Given the description of an element on the screen output the (x, y) to click on. 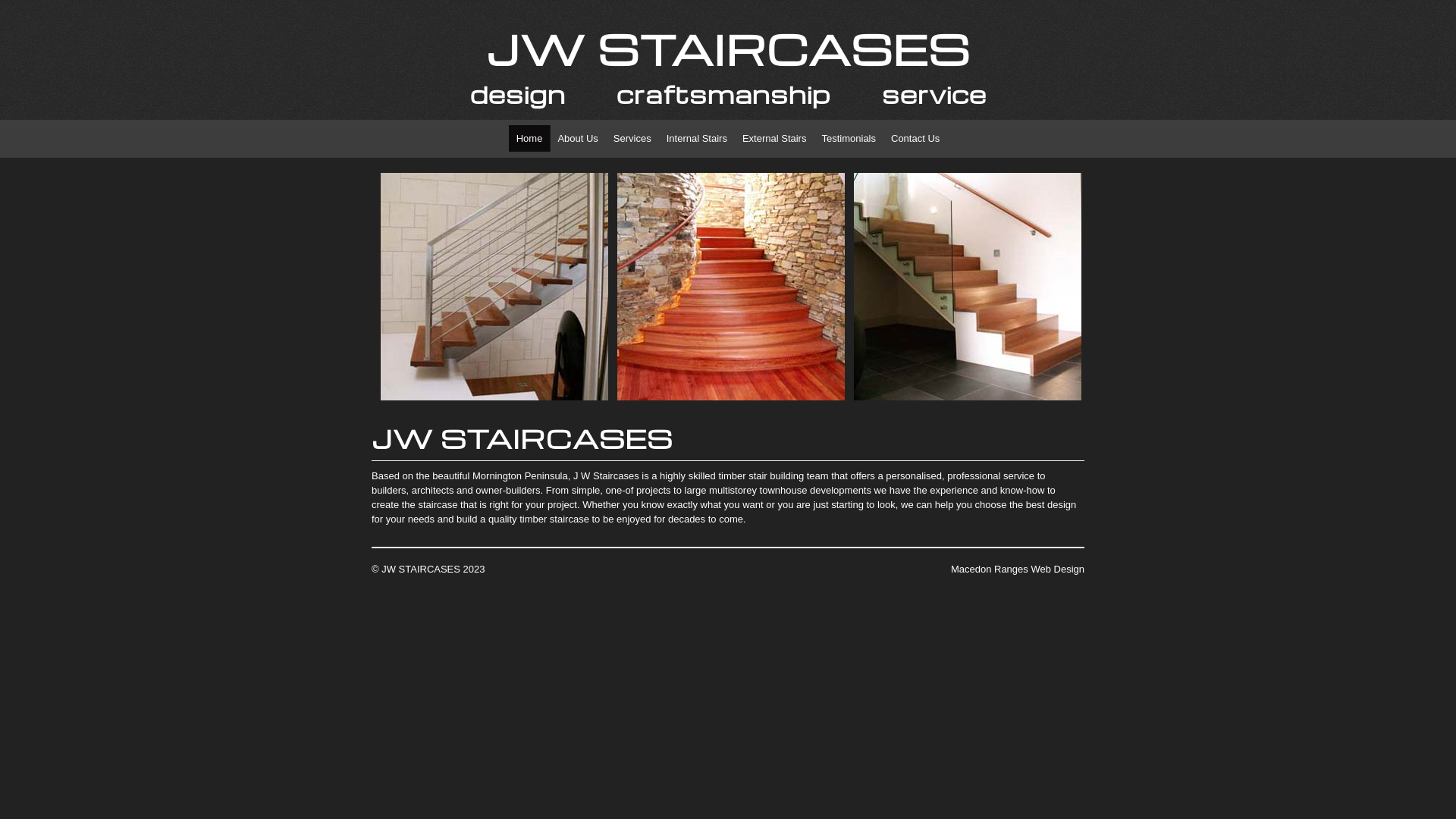
Macedon Ranges Web Design Element type: text (1017, 568)
Services Element type: text (631, 138)
Contact Us Element type: text (915, 138)
External Stairs Element type: text (774, 138)
Testimonials Element type: text (848, 138)
Home Element type: text (529, 138)
JW STAIRCASES
design craftsmanship service Element type: text (727, 65)
About Us Element type: text (577, 138)
Internal Stairs Element type: text (696, 138)
